Given the description of an element on the screen output the (x, y) to click on. 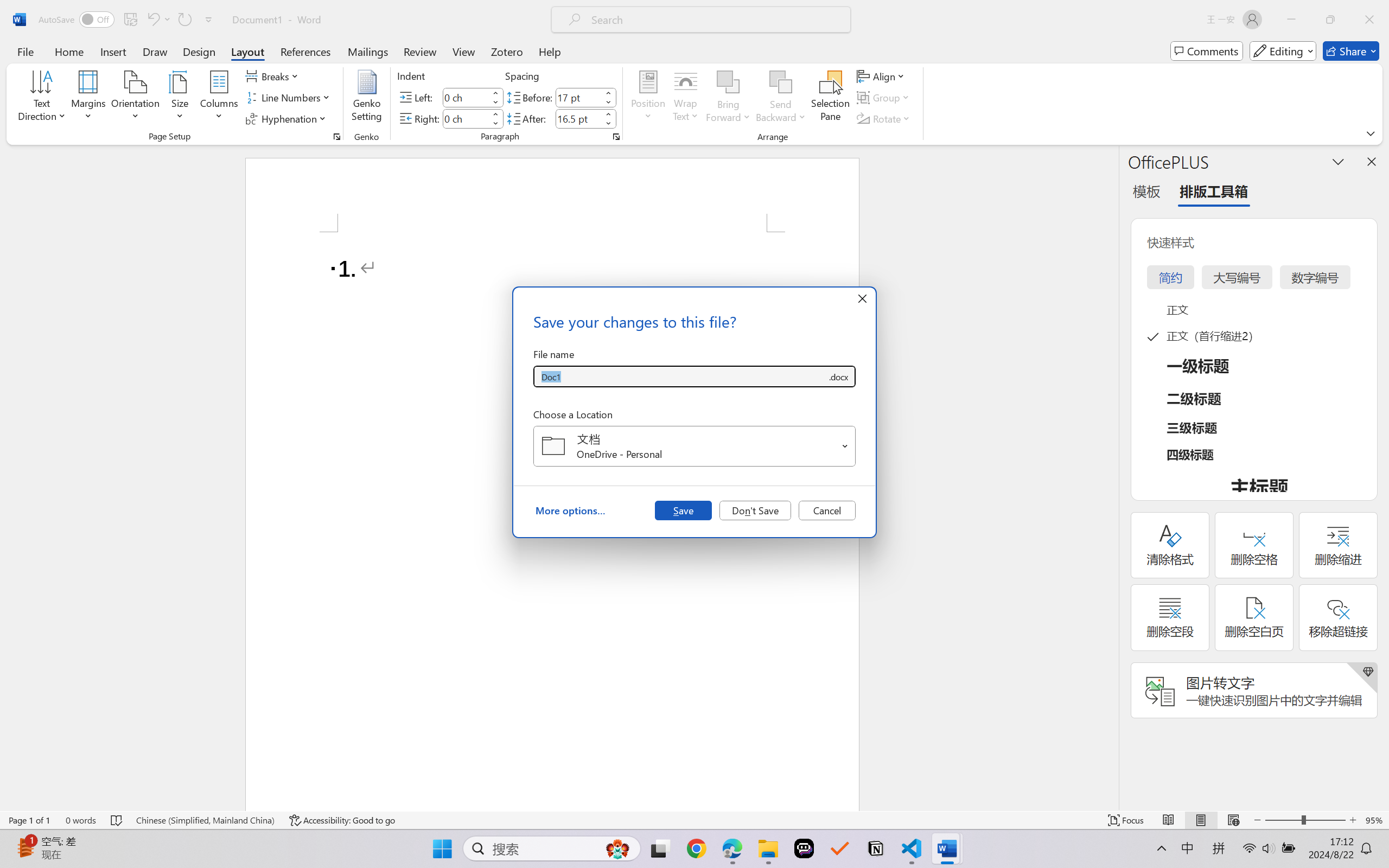
Size (180, 97)
Selection Pane... (830, 97)
Margins (88, 97)
Language Chinese (Simplified, Mainland China) (205, 819)
